Given the description of an element on the screen output the (x, y) to click on. 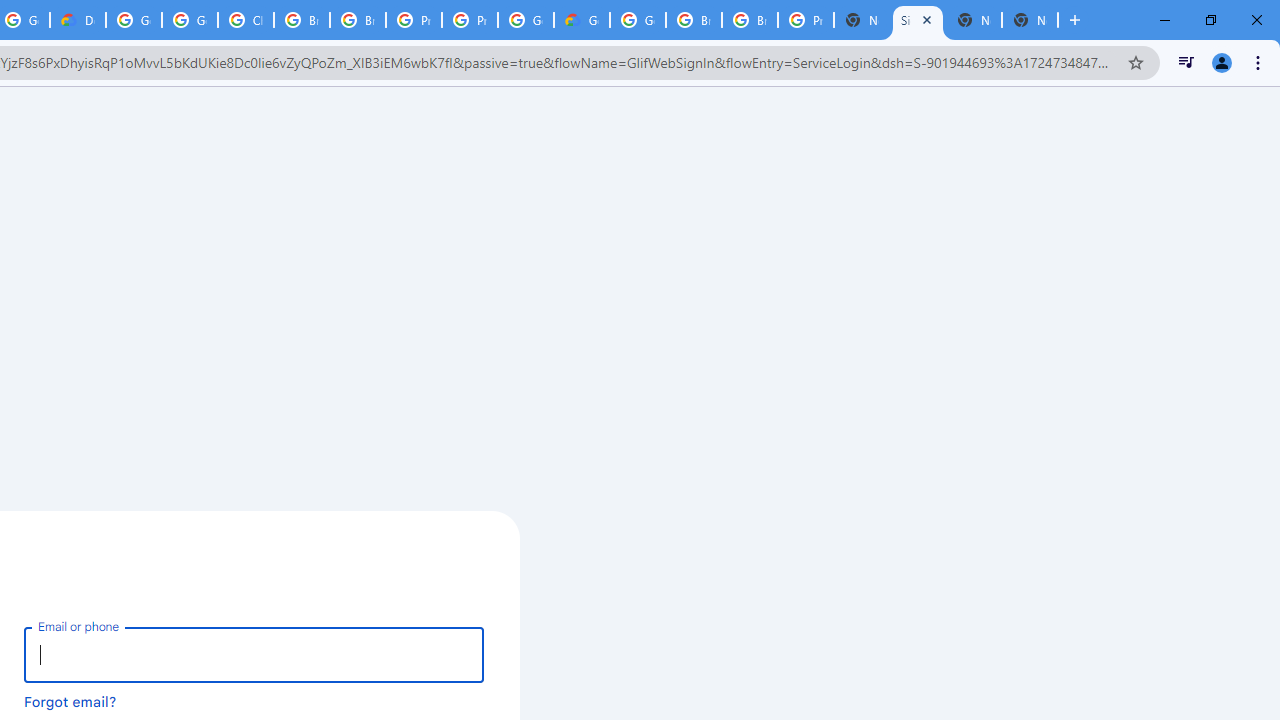
Google Cloud Platform (525, 20)
Browse Chrome as a guest - Computer - Google Chrome Help (693, 20)
New Tab (861, 20)
Browse Chrome as a guest - Computer - Google Chrome Help (358, 20)
Forgot email? (70, 701)
Google Cloud Platform (637, 20)
Control your music, videos, and more (1185, 62)
